Given the description of an element on the screen output the (x, y) to click on. 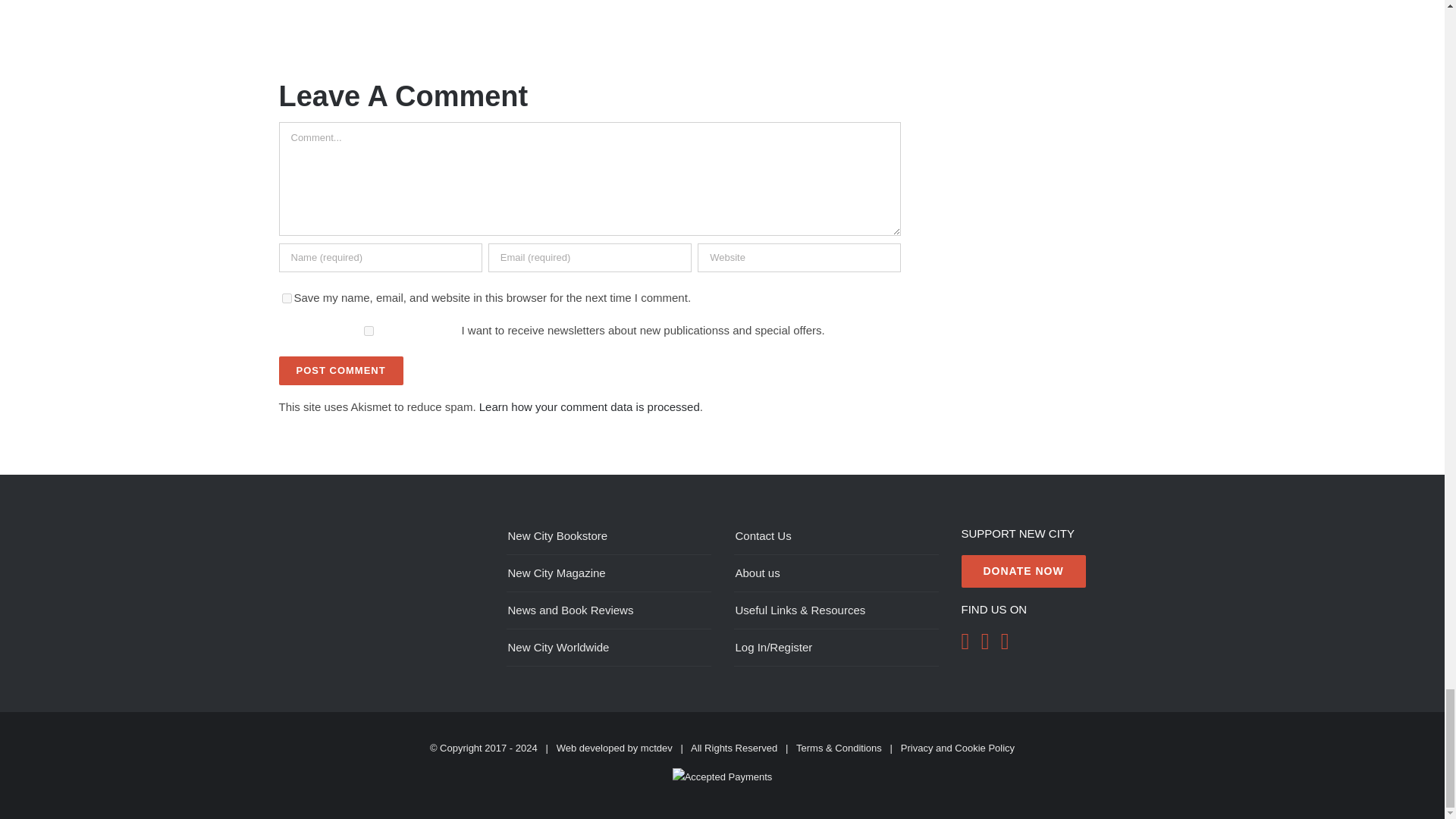
yes (287, 298)
Post Comment (341, 370)
1 (369, 330)
